Given the description of an element on the screen output the (x, y) to click on. 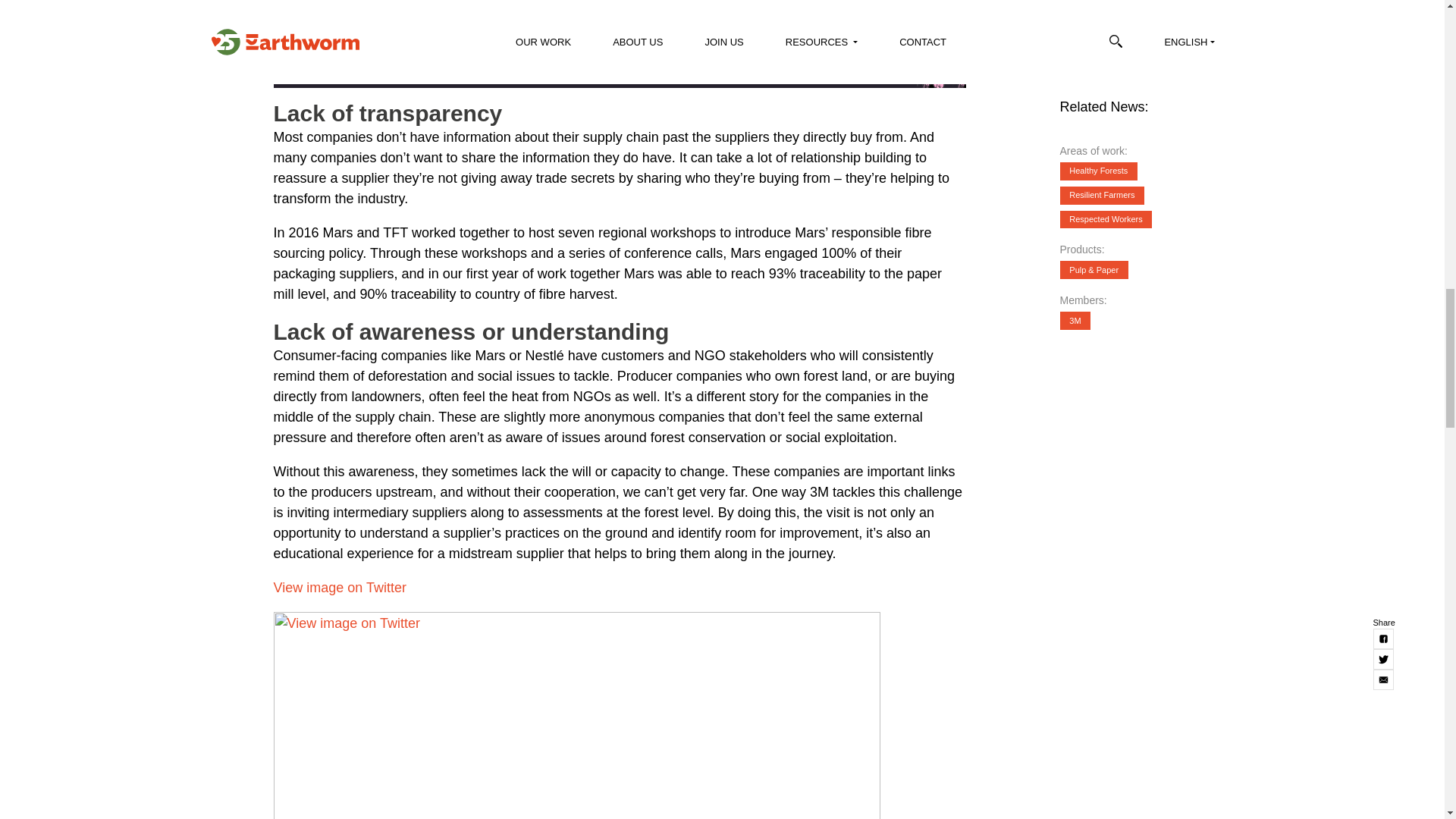
View image on Twitter (576, 715)
View image on Twitter (339, 587)
View image on Twitter (339, 587)
